Given the description of an element on the screen output the (x, y) to click on. 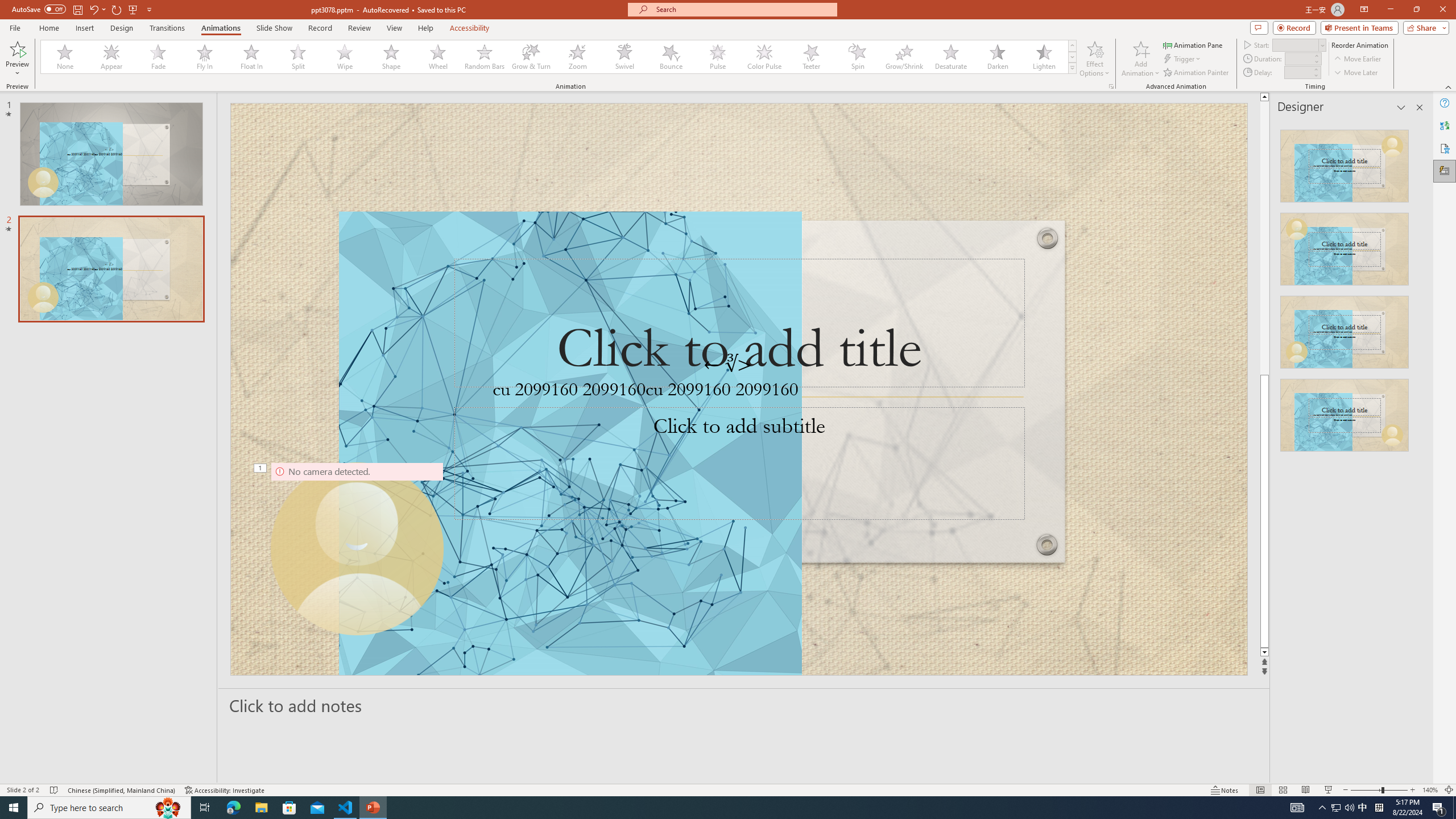
More Options... (1110, 85)
TextBox 61 (736, 391)
Move Later (1355, 72)
Teeter (810, 56)
Grow/Shrink (903, 56)
Appear (111, 56)
AutomationID: AnimationGallery (558, 56)
